Given the description of an element on the screen output the (x, y) to click on. 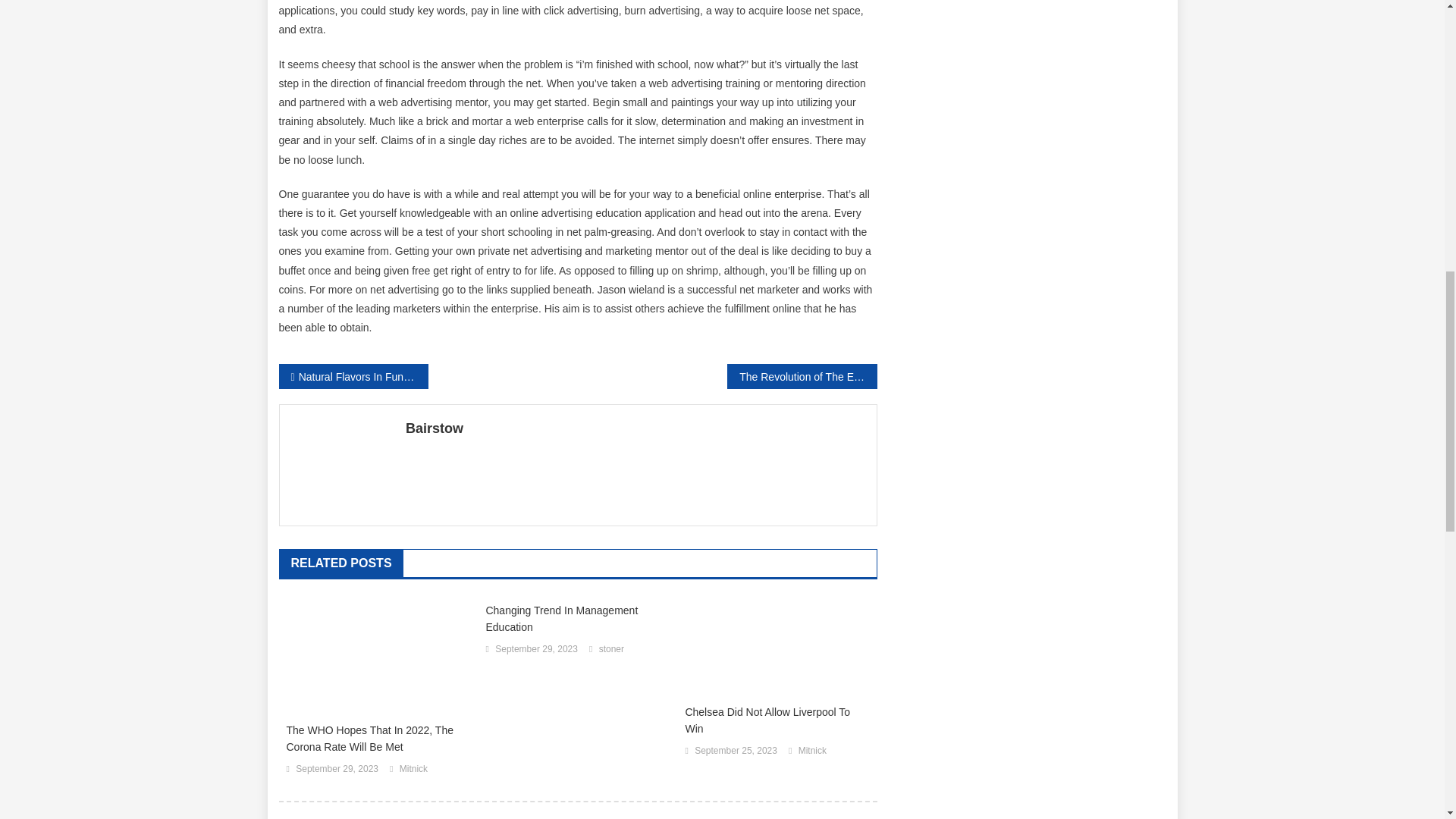
Bairstow (635, 428)
The WHO Hopes That In 2022, The Corona Rate Will Be Met (378, 738)
The Revolution of The ECO (801, 376)
Natural Flavors In Functional Food Supplements (353, 376)
